Given the description of an element on the screen output the (x, y) to click on. 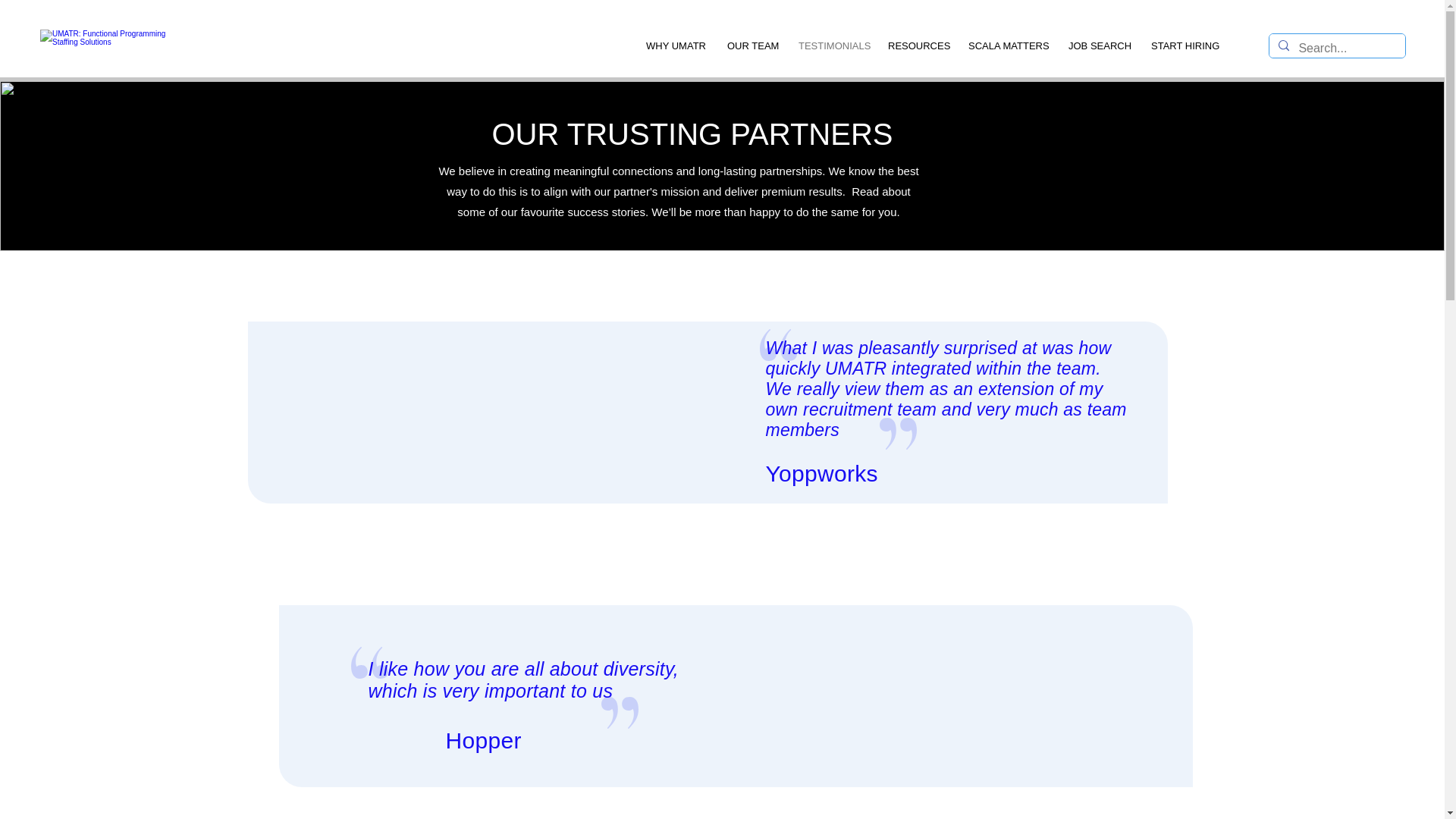
SCALA MATTERS (1006, 45)
WHY UMATR (675, 45)
JOB SEARCH (1098, 45)
TESTIMONIALS (831, 45)
RESOURCES (916, 45)
START HIRING (1183, 45)
